Given the description of an element on the screen output the (x, y) to click on. 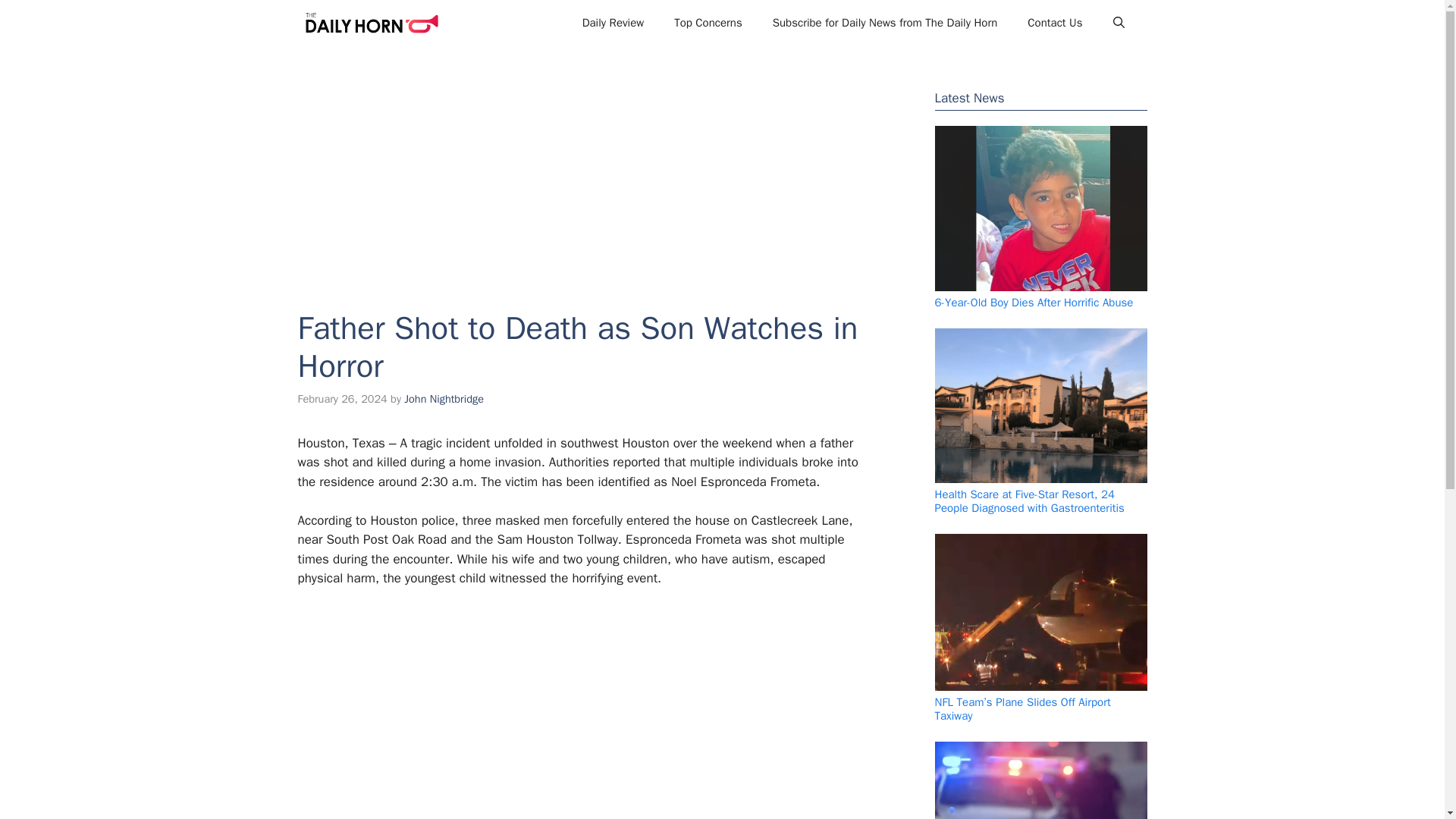
View all posts by John Nightbridge (443, 398)
The Daily Horn (371, 22)
Top Concerns (708, 22)
Advertisement (570, 713)
Daily Review (613, 22)
Subscribe for Daily News from The Daily Horn (885, 22)
Advertisement (577, 166)
Contact Us (1054, 22)
6-Year-Old Boy Dies After Horrific Abuse (1033, 302)
John Nightbridge (443, 398)
